Given the description of an element on the screen output the (x, y) to click on. 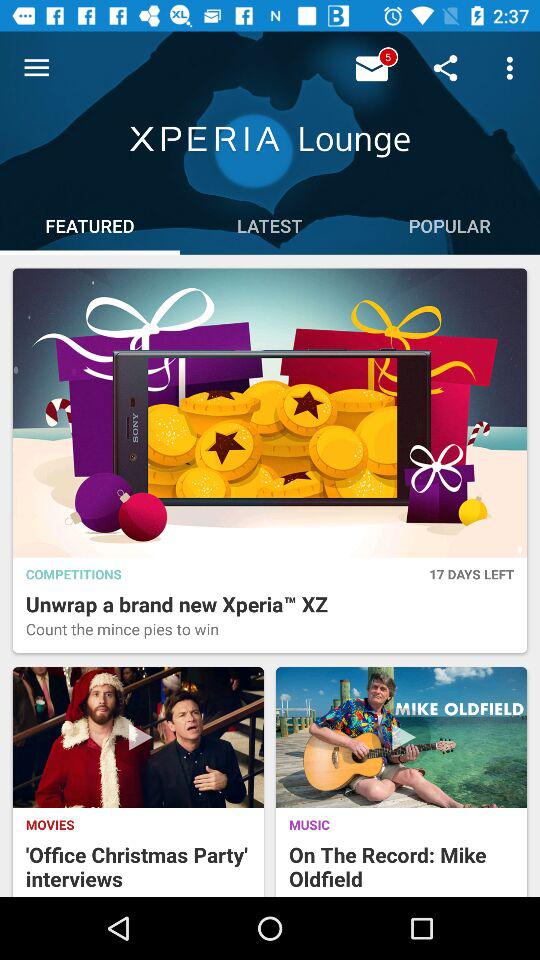
select the image which is above the movies (138, 737)
go to share button click the beside inbox icon (374, 68)
